Given the description of an element on the screen output the (x, y) to click on. 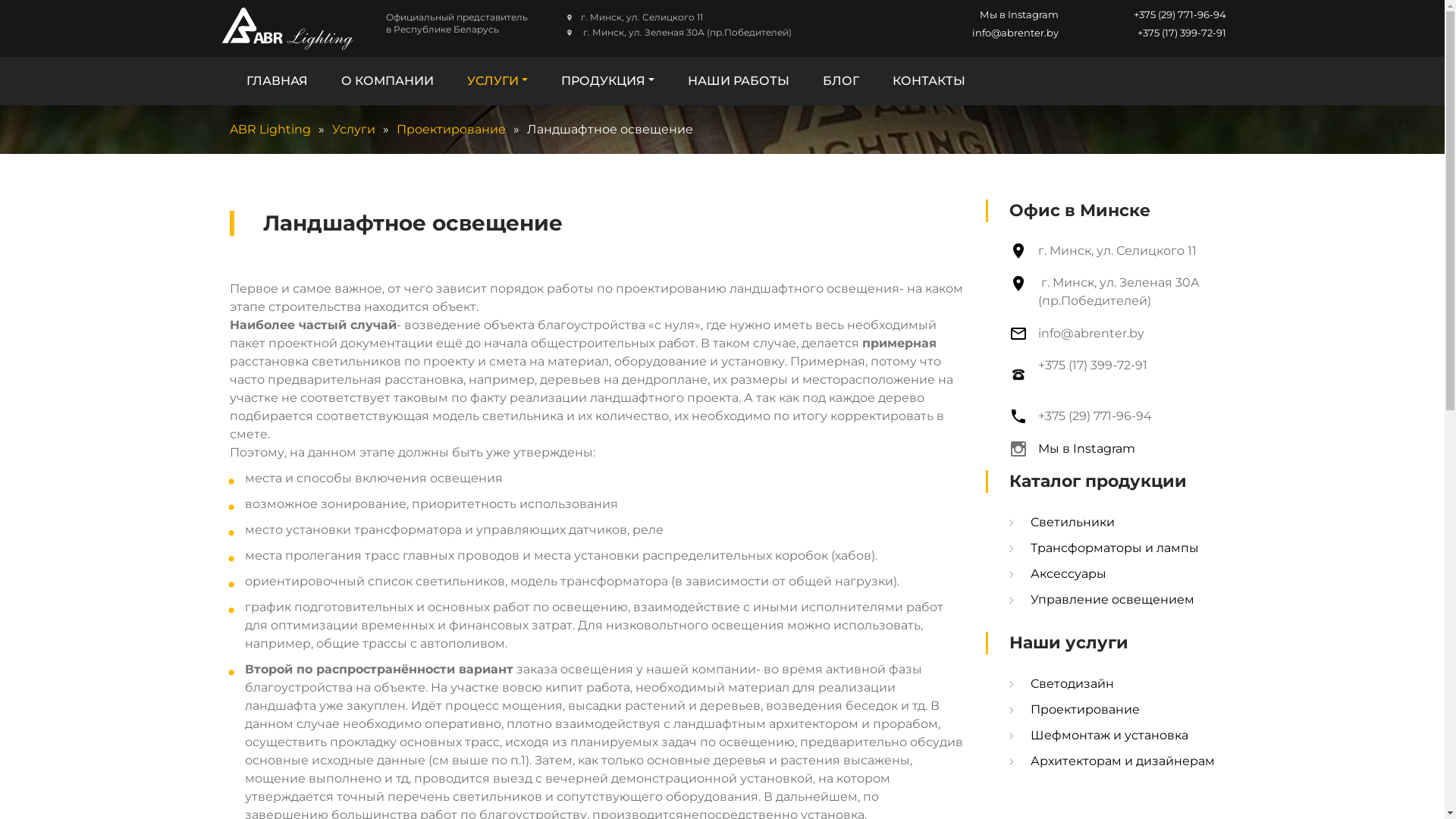
info@abrenter.by Element type: text (974, 33)
+375 (17) 399-72-91 Element type: text (1142, 40)
+375 (17) 399-72-91 Element type: text (1092, 373)
+375 (29) 771-96-94 Element type: text (1094, 415)
ABR Lighting Element type: text (269, 128)
+375 (29) 771-96-94 Element type: text (1142, 15)
info@abrenter.by Element type: text (1091, 333)
